Given the description of an element on the screen output the (x, y) to click on. 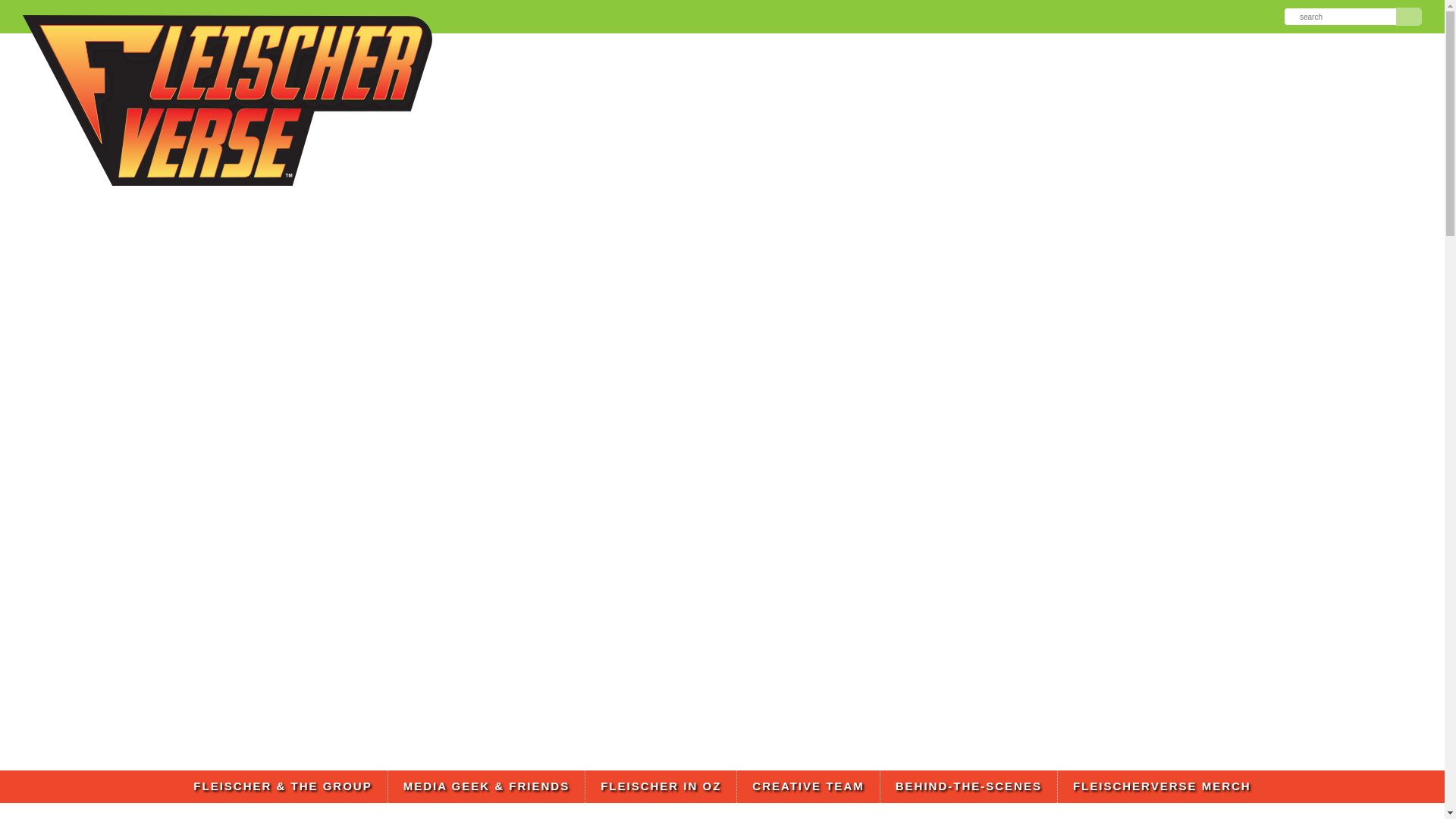
FLEISCHER IN OZ (660, 786)
Search (1409, 16)
CREATIVE TEAM (807, 786)
BEHIND-THE-SCENES (968, 786)
FLEISCHERVERSE MERCH (1162, 786)
